Given the description of an element on the screen output the (x, y) to click on. 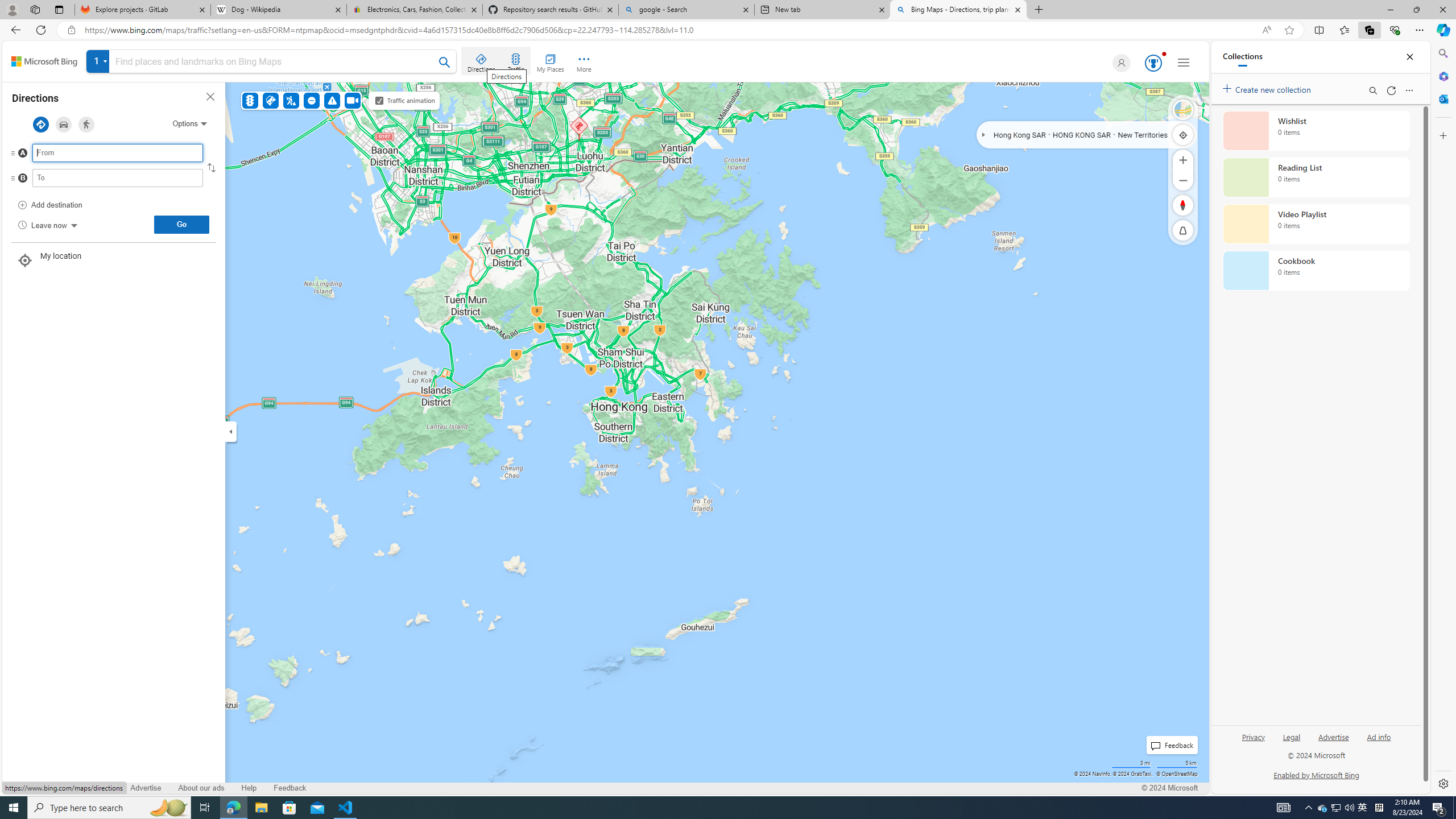
Privacy and Cookies (44, 787)
Electronics, Cars, Fashion, Collectibles & More | eBay (414, 9)
Video Playlist collection, 0 items (1316, 223)
Cameras (353, 100)
Help (249, 787)
Bird's eye (1182, 109)
Select Style (1182, 109)
Default Profile Picture (1121, 63)
